Given the description of an element on the screen output the (x, y) to click on. 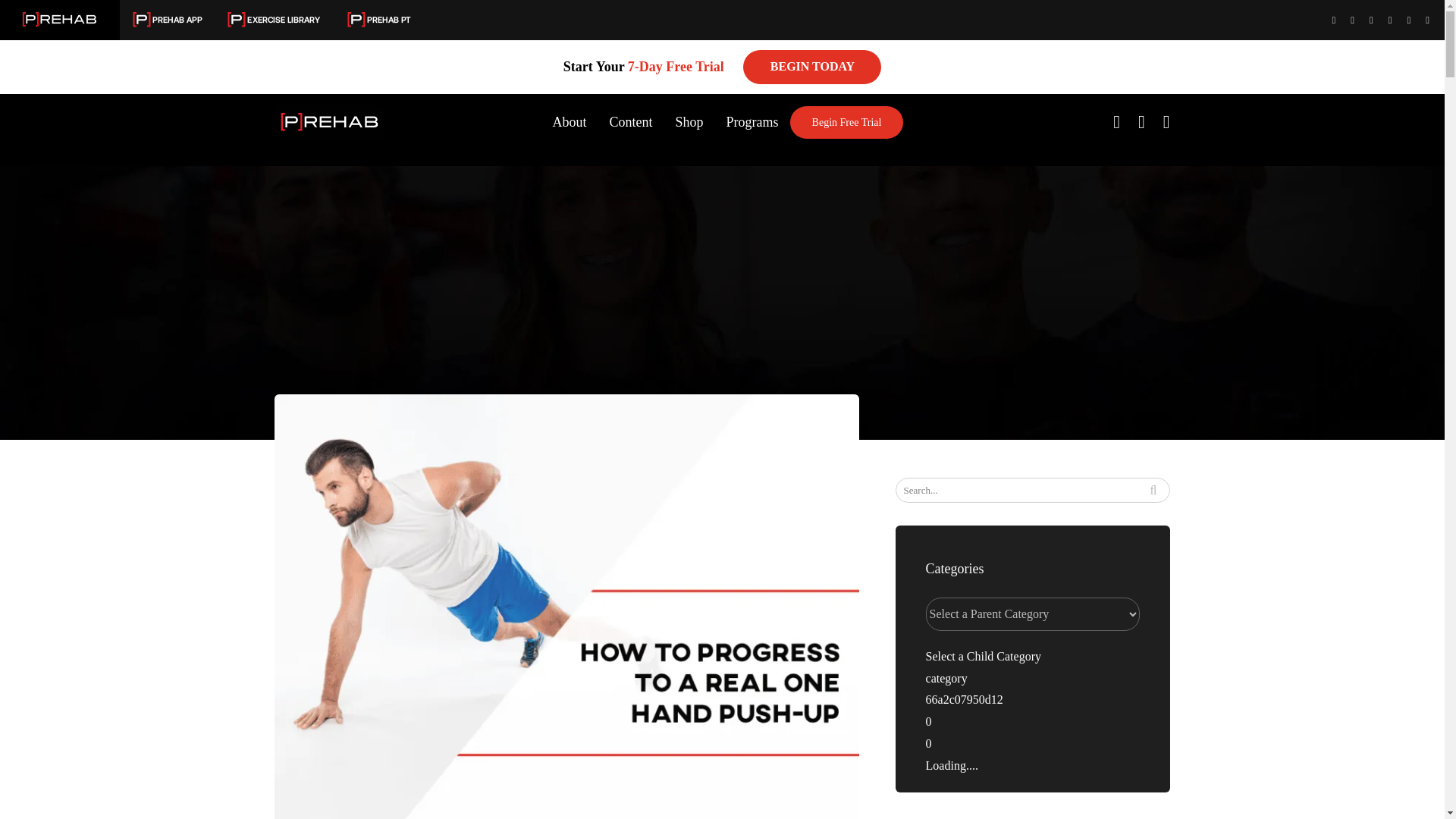
BEGIN TODAY (811, 66)
About (569, 122)
Content (630, 122)
Shop (688, 122)
